Given the description of an element on the screen output the (x, y) to click on. 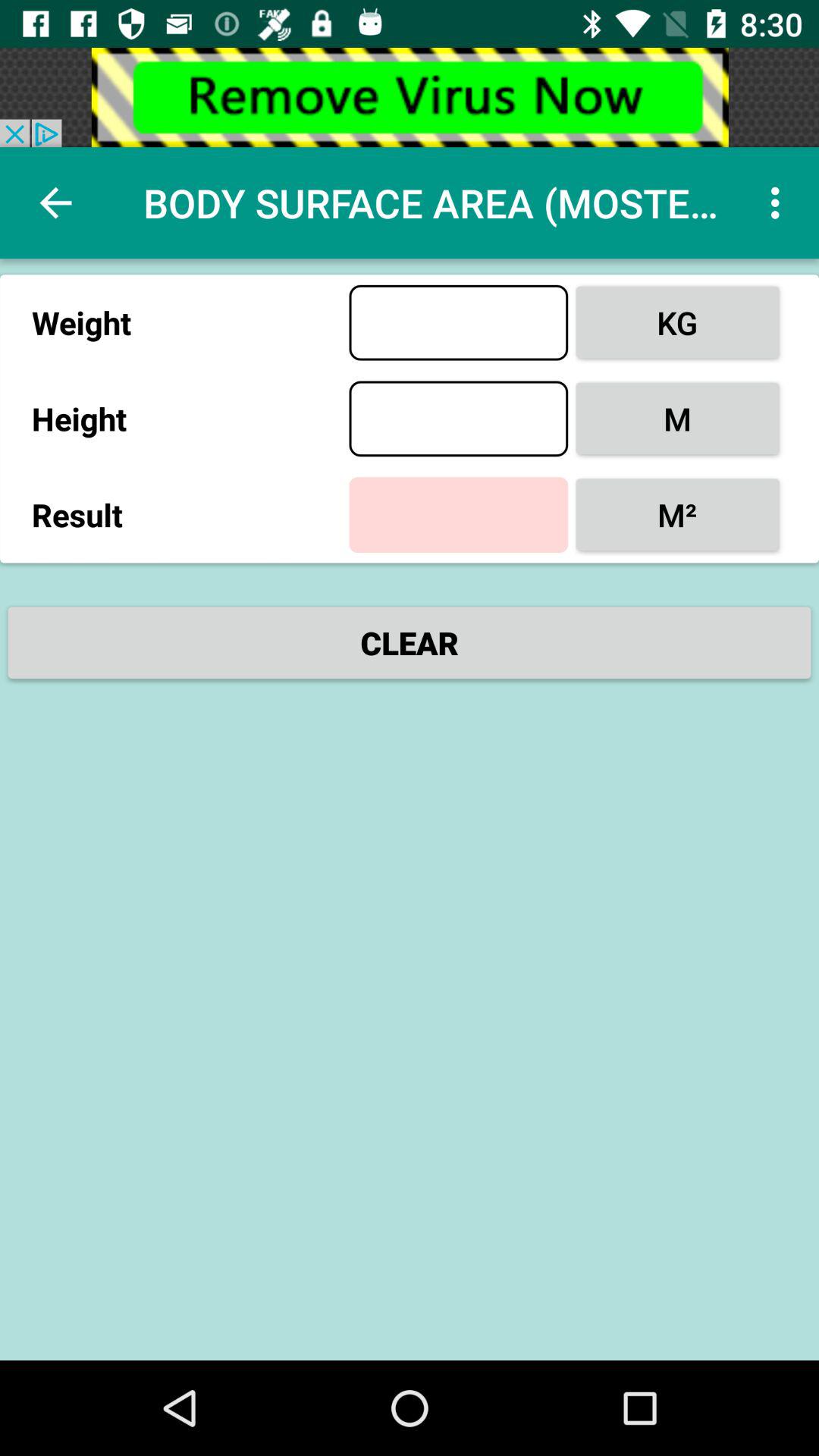
visit virus removal website (409, 97)
